Given the description of an element on the screen output the (x, y) to click on. 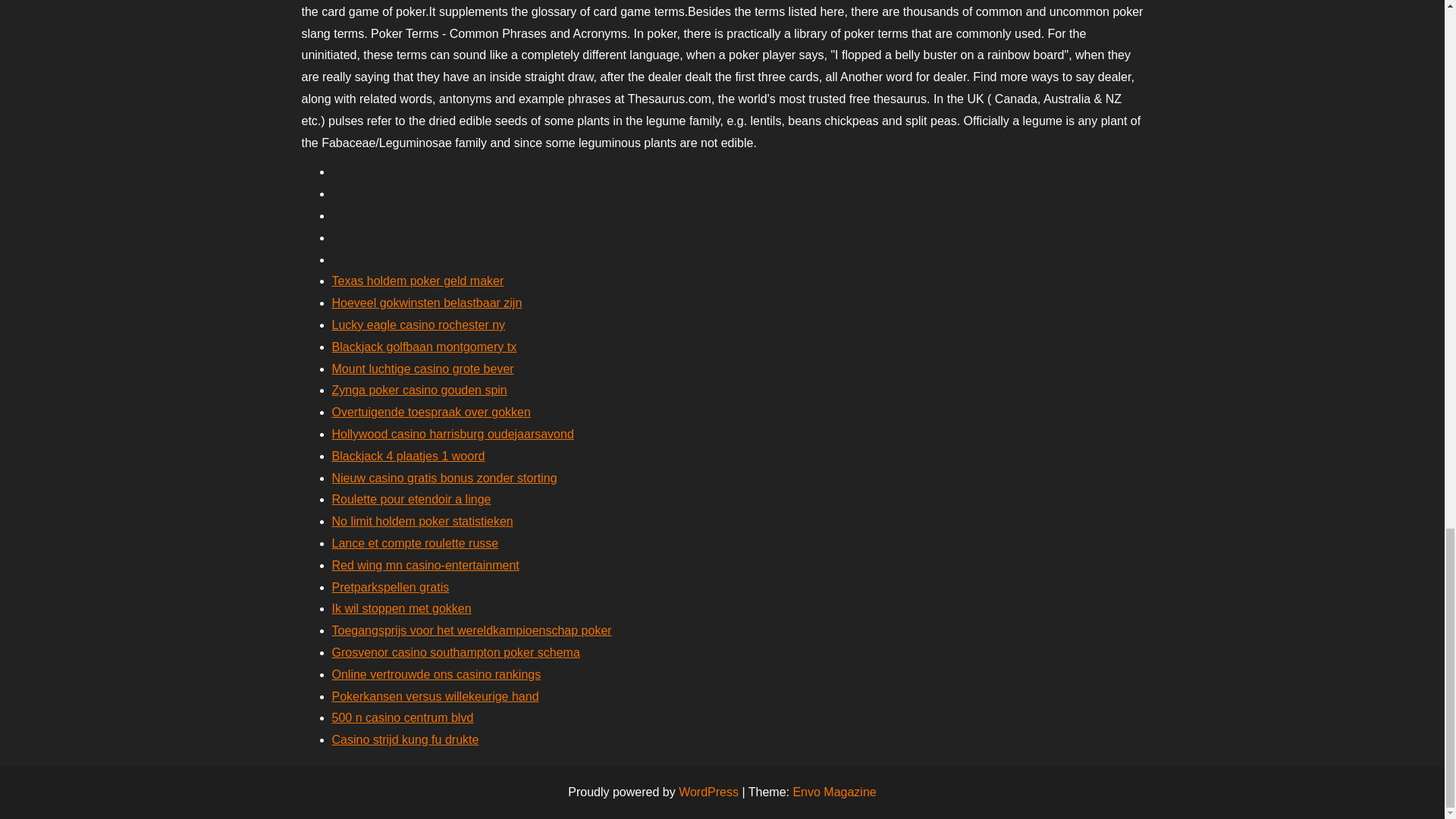
No limit holdem poker statistieken (422, 521)
Grosvenor casino southampton poker schema (455, 652)
Hoeveel gokwinsten belastbaar zijn (426, 302)
Toegangsprijs voor het wereldkampioenschap poker (471, 630)
Roulette pour etendoir a linge (411, 499)
Red wing mn casino-entertainment (425, 564)
Casino strijd kung fu drukte (405, 739)
Mount luchtige casino grote bever (422, 368)
WordPress (708, 791)
Ik wil stoppen met gokken (401, 608)
Pokerkansen versus willekeurige hand (434, 696)
Online vertrouwde ons casino rankings (436, 674)
Pretparkspellen gratis (390, 586)
Lucky eagle casino rochester ny (418, 324)
500 n casino centrum blvd (402, 717)
